Given the description of an element on the screen output the (x, y) to click on. 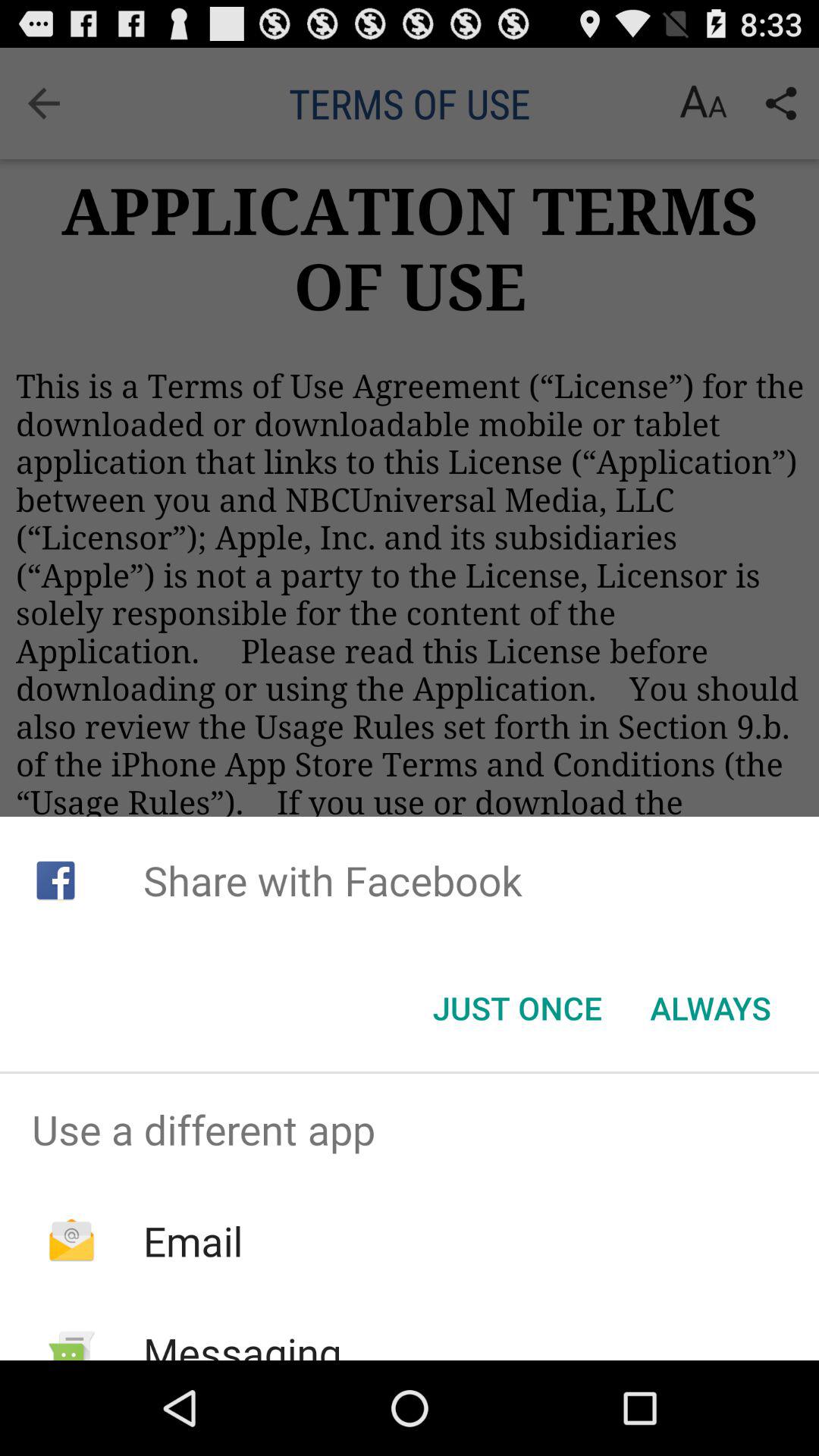
open use a different (409, 1129)
